Given the description of an element on the screen output the (x, y) to click on. 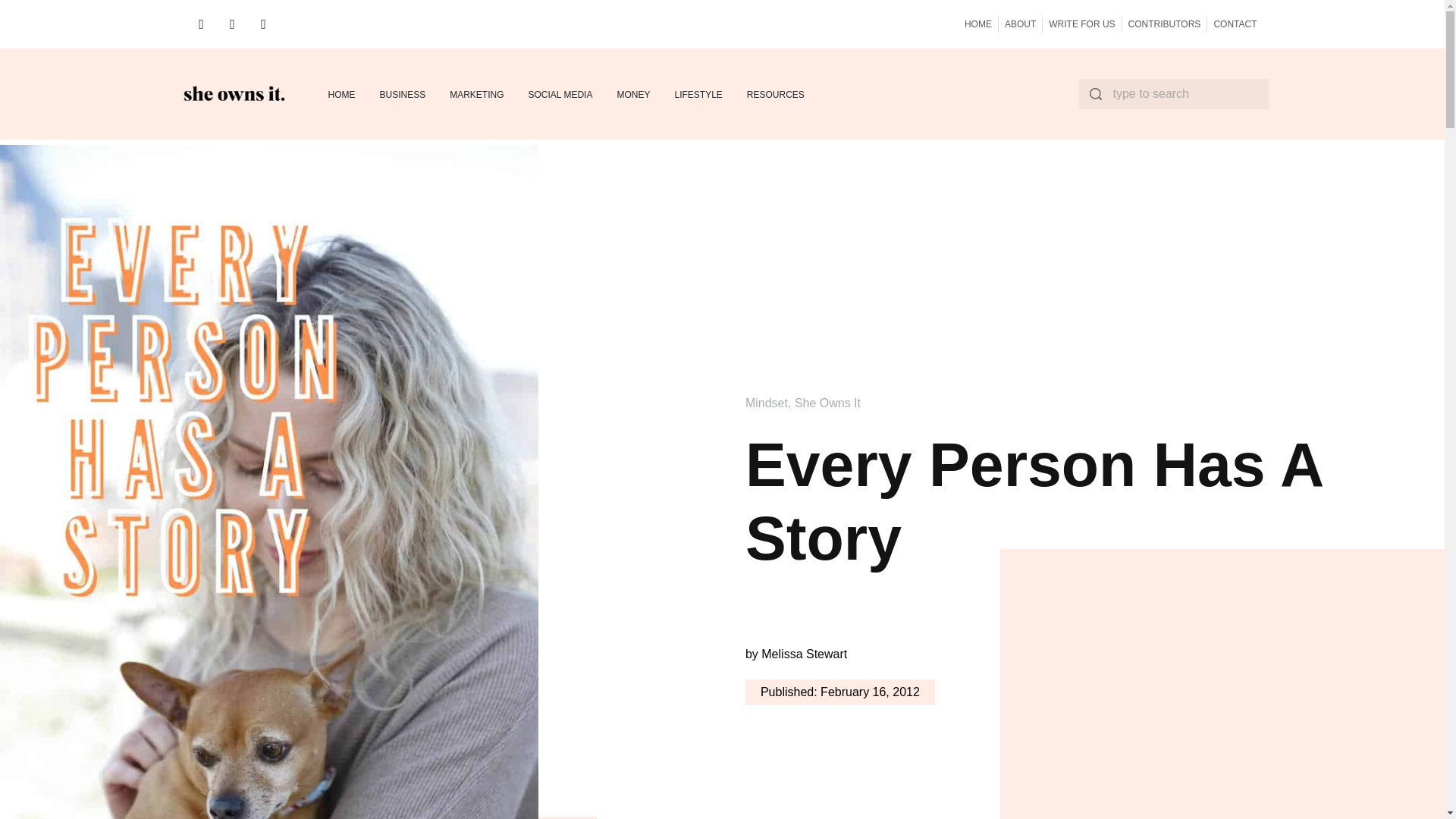
BUSINESS (401, 94)
WRITE FOR US (1081, 23)
ABOUT (1019, 23)
CONTACT (1234, 23)
Mindset (766, 402)
MARKETING (476, 94)
HOME (977, 23)
RESOURCES (775, 94)
MONEY (632, 94)
CONTRIBUTORS (1164, 23)
